Given the description of an element on the screen output the (x, y) to click on. 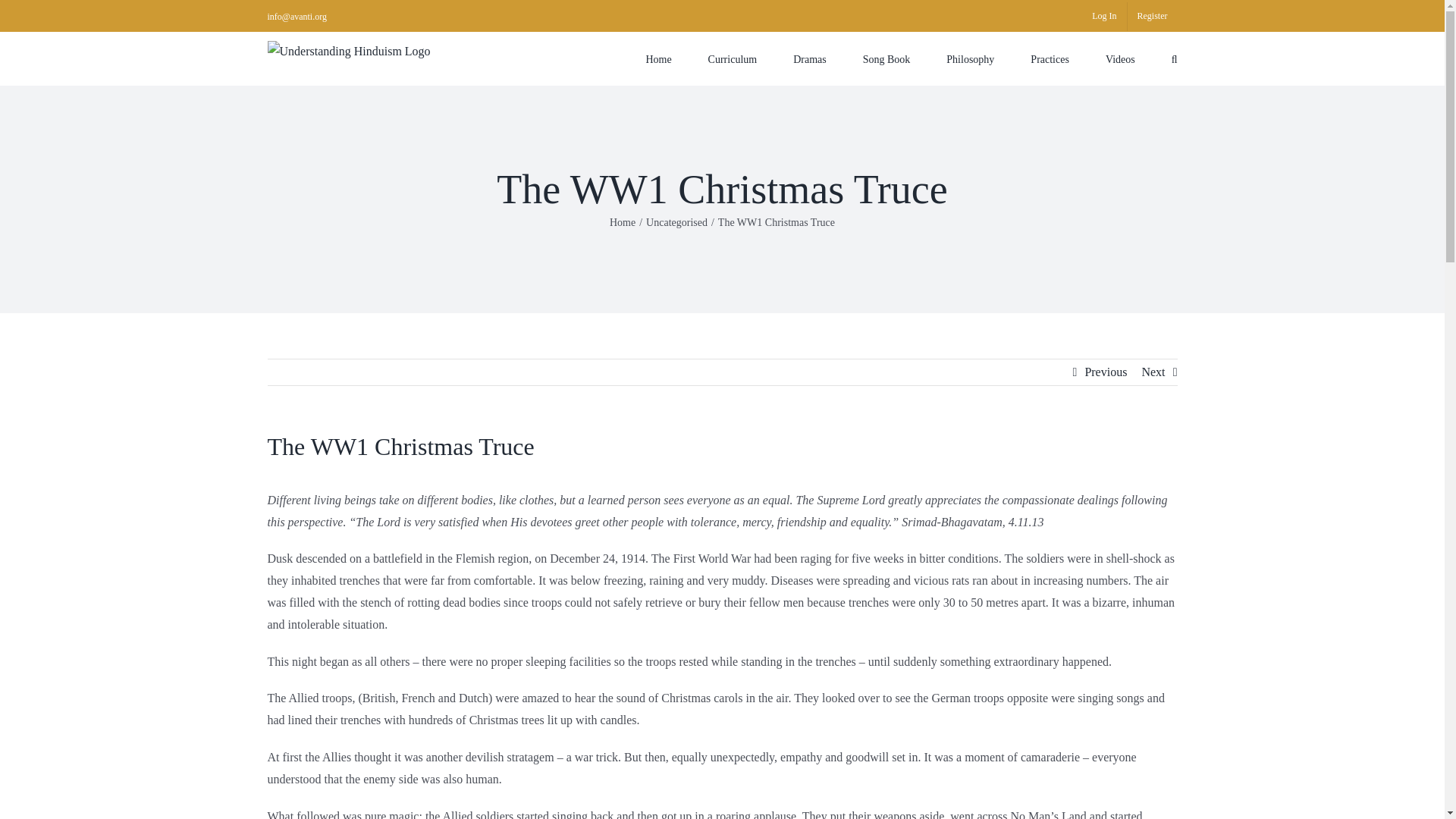
Curriculum (732, 58)
Log In (1103, 16)
Register (1151, 16)
Song Book (887, 58)
